Given the description of an element on the screen output the (x, y) to click on. 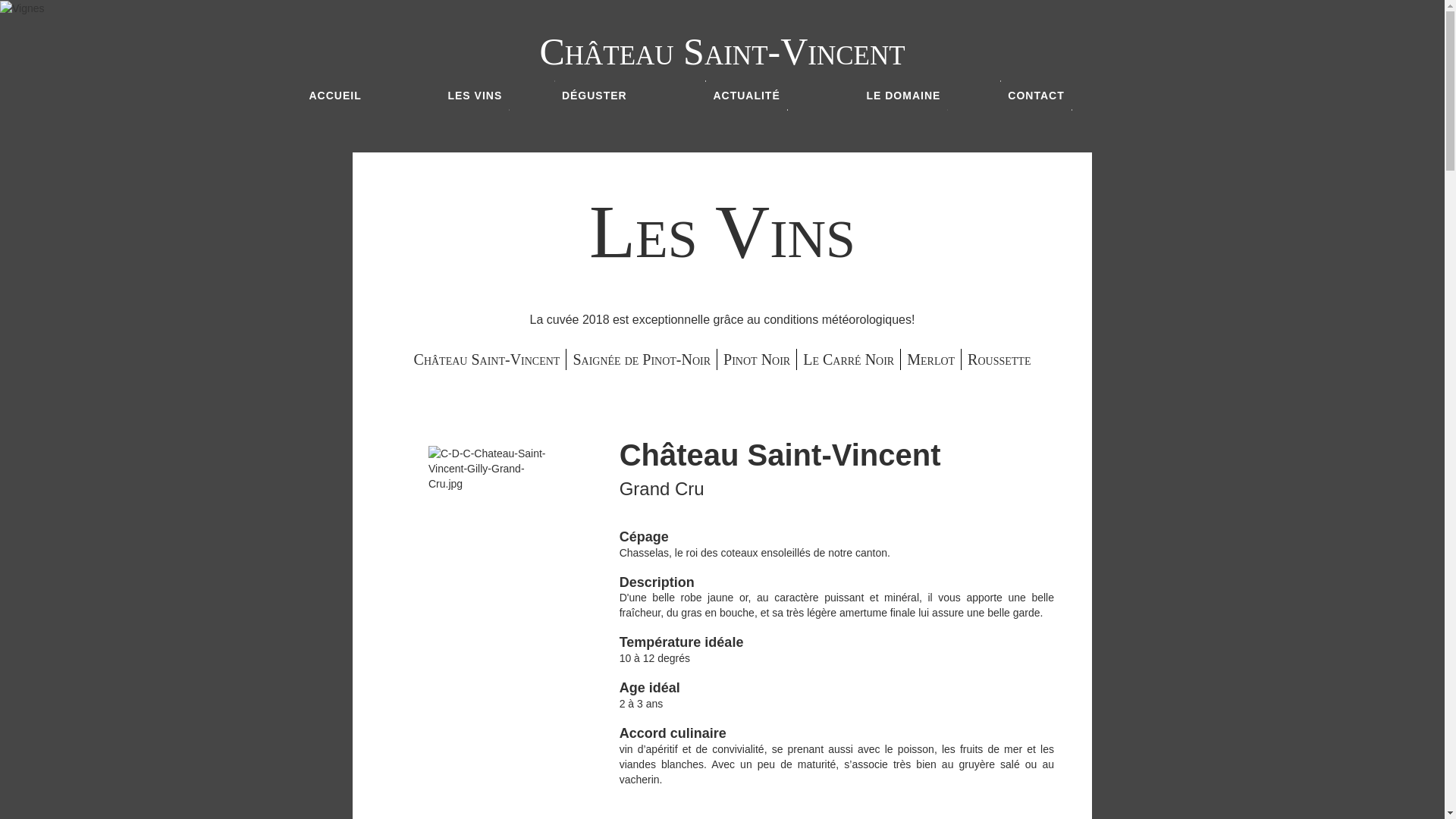
ACCUEIL Element type: text (335, 95)
Roussette Element type: text (998, 359)
Merlot Element type: text (930, 359)
LES VINS Element type: text (474, 95)
LE DOMAINE Element type: text (902, 95)
Pinot Noir Element type: text (756, 359)
CONTACT Element type: text (1035, 95)
